Given the description of an element on the screen output the (x, y) to click on. 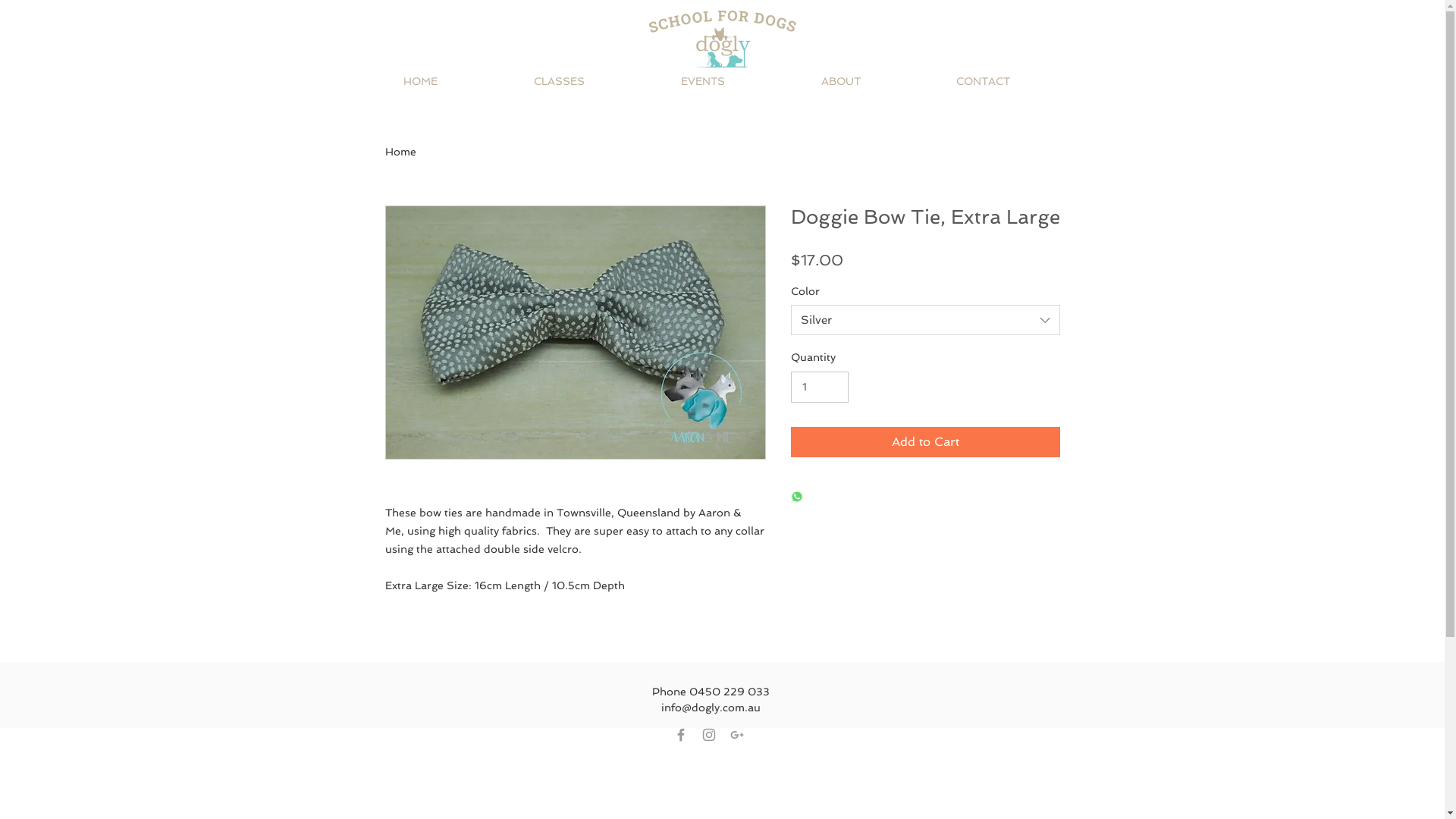
Silver Element type: text (924, 319)
CONTACT Element type: text (1019, 80)
CLASSES Element type: text (594, 80)
HOME Element type: text (456, 80)
ABOUT Element type: text (876, 80)
Home Element type: text (400, 151)
EVENTS Element type: text (738, 80)
Add to Cart Element type: text (924, 441)
School For Dogs Dogly Training  Element type: hover (722, 38)
info@dogly.com.au Element type: text (710, 707)
